Given the description of an element on the screen output the (x, y) to click on. 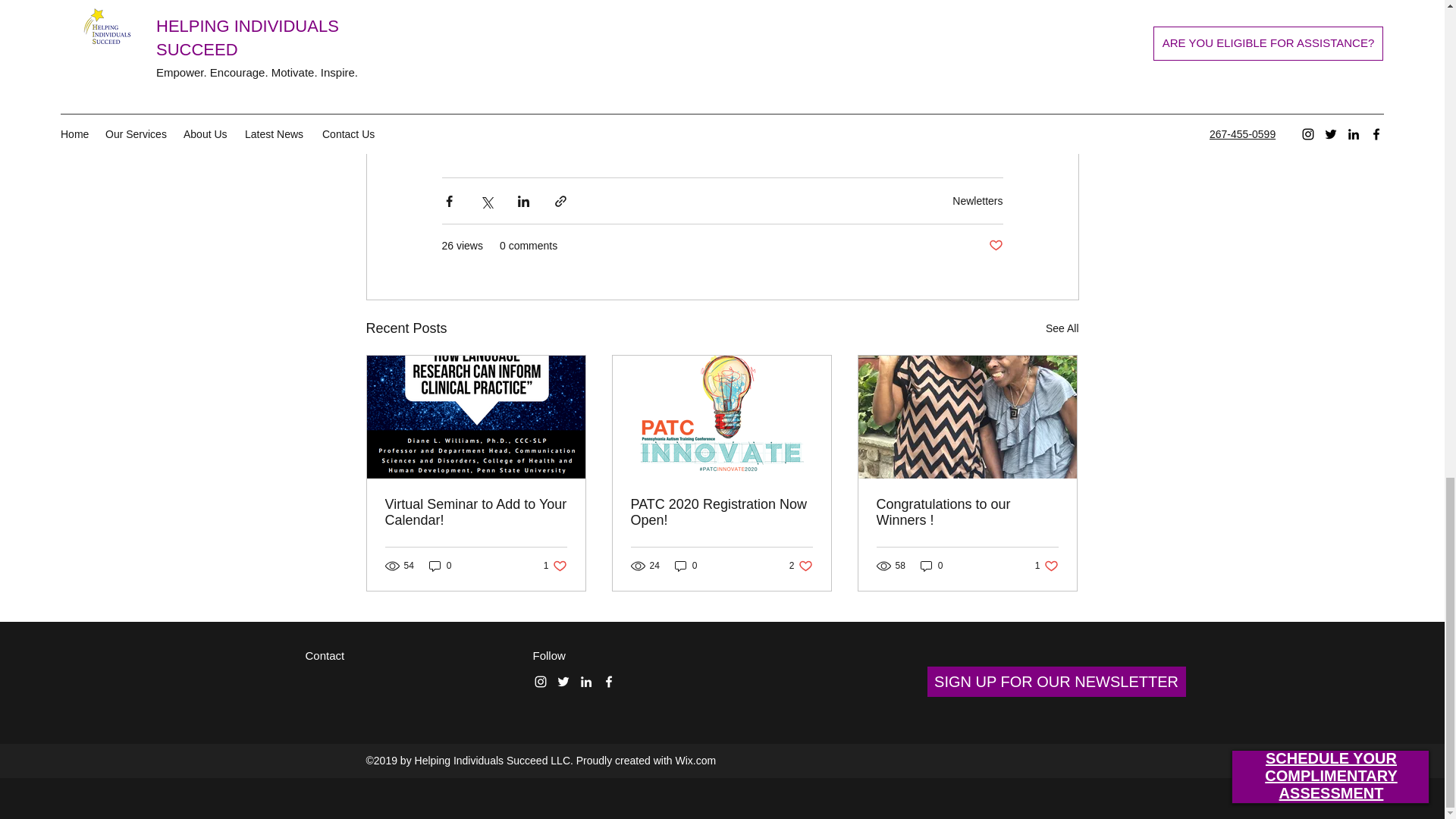
Virtual Seminar to Add to Your Calendar! (555, 565)
Post not marked as liked (476, 512)
Newletters (995, 245)
PATC 2020 Registration Now Open! (977, 200)
0 (721, 512)
See All (440, 565)
0 (1061, 328)
here (685, 565)
